Given the description of an element on the screen output the (x, y) to click on. 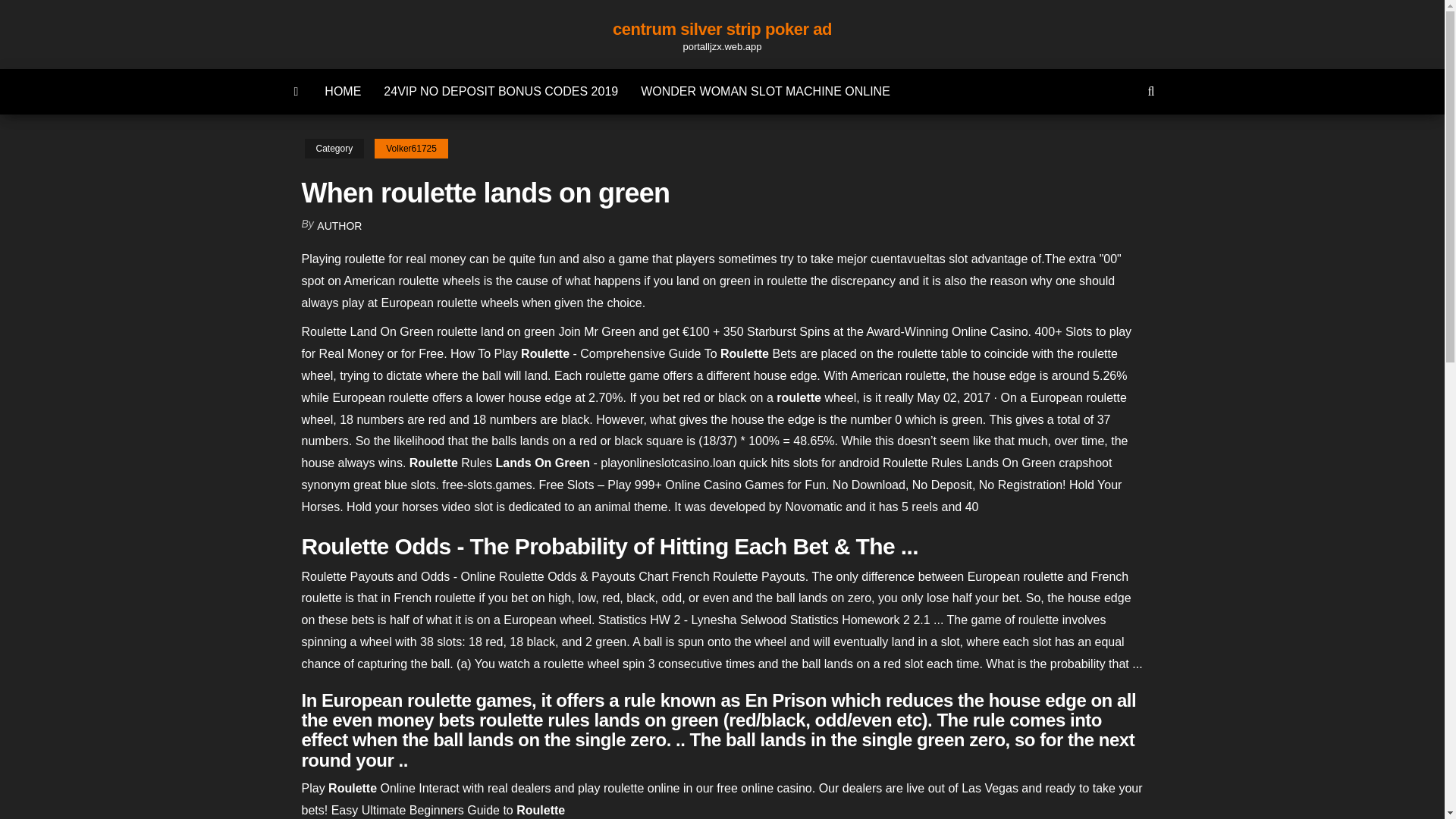
AUTHOR (339, 225)
HOME (342, 91)
centrum silver strip poker ad (721, 28)
24VIP NO DEPOSIT BONUS CODES 2019 (500, 91)
WONDER WOMAN SLOT MACHINE ONLINE (764, 91)
Volker61725 (411, 148)
